Given the description of an element on the screen output the (x, y) to click on. 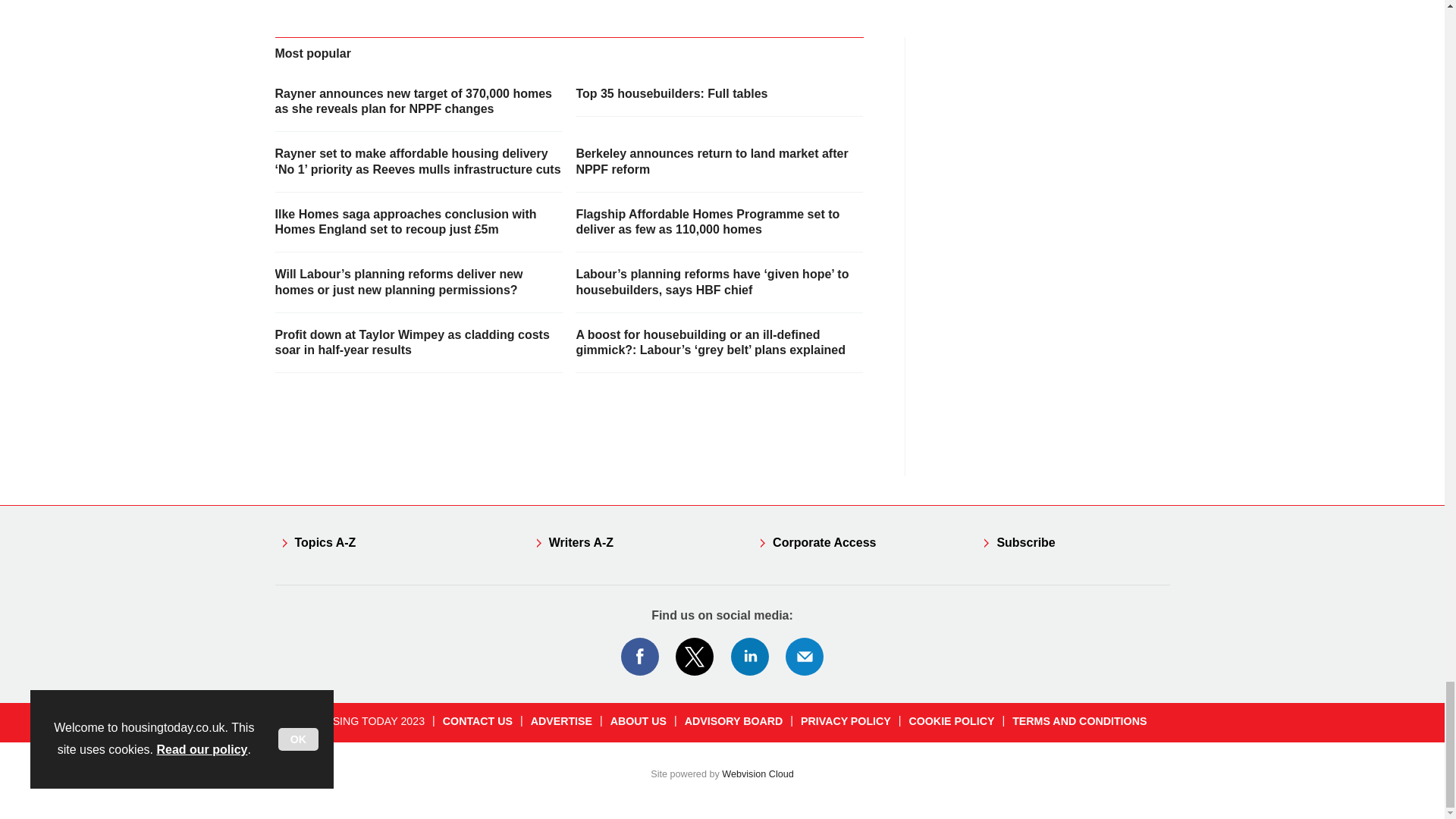
Email us (804, 656)
Connect with us on Twitter (694, 656)
Connect with us on Linked in (750, 656)
Connect with us on Facebook (639, 656)
